Given the description of an element on the screen output the (x, y) to click on. 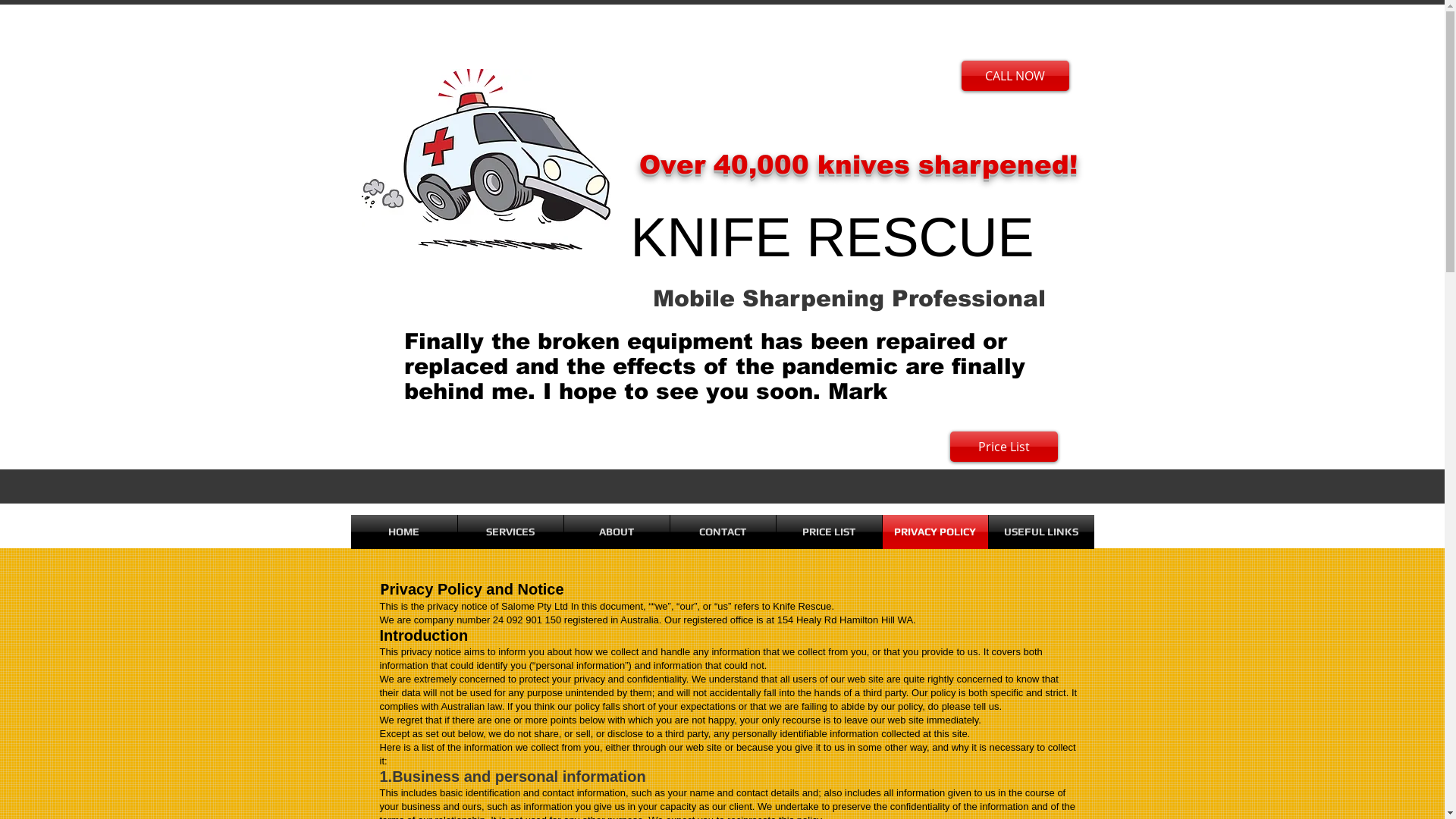
CALL NOW Element type: text (1015, 75)
USEFUL LINKS Element type: text (1041, 531)
ABOUT Element type: text (616, 531)
Price List Element type: text (1003, 446)
HOME Element type: text (403, 531)
CONTACT Element type: text (722, 531)
PRICE LIST Element type: text (828, 531)
PRIVACY POLICY Element type: text (935, 531)
SERVICES Element type: text (510, 531)
